Given the description of an element on the screen output the (x, y) to click on. 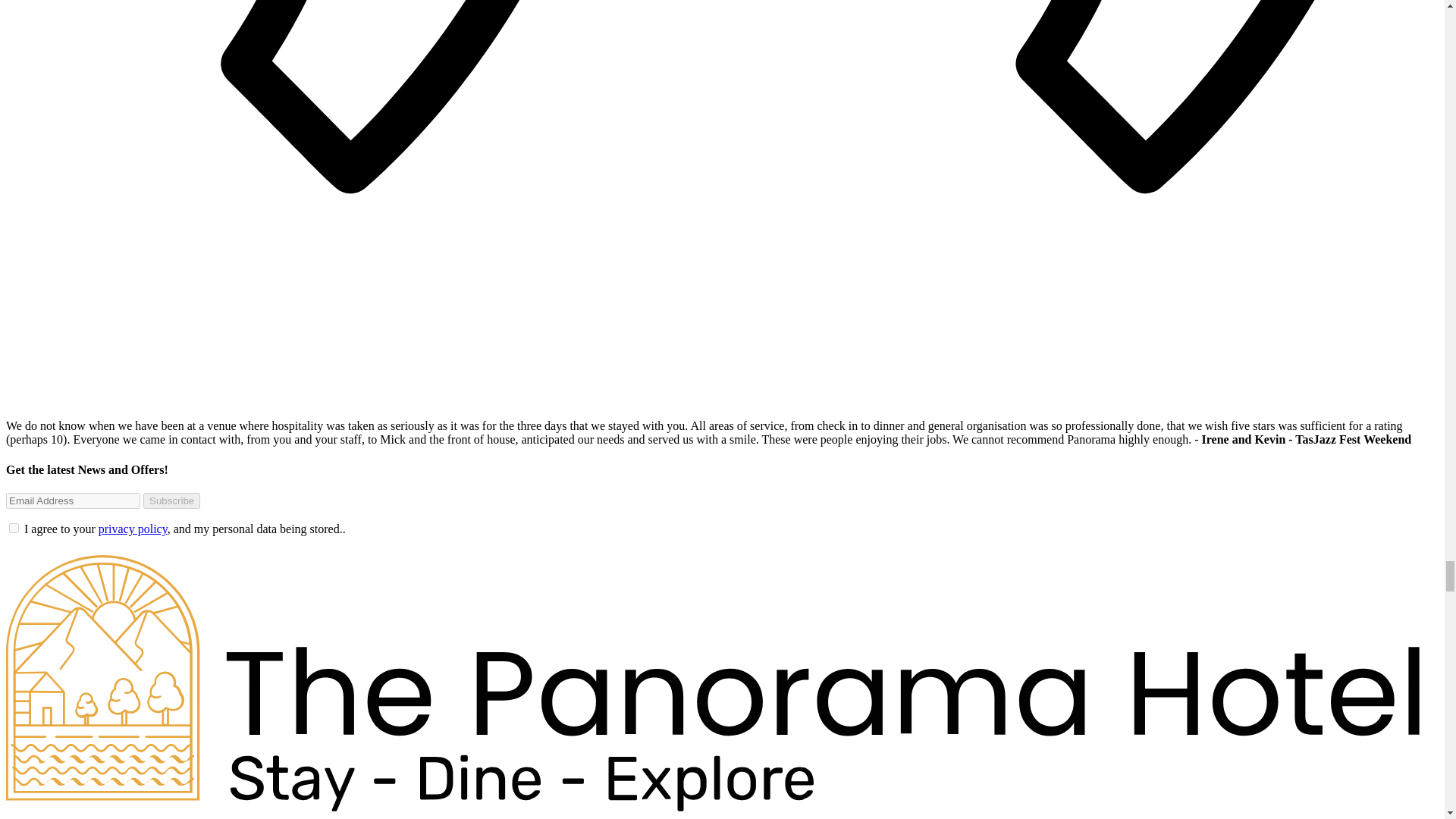
on (13, 528)
